Given the description of an element on the screen output the (x, y) to click on. 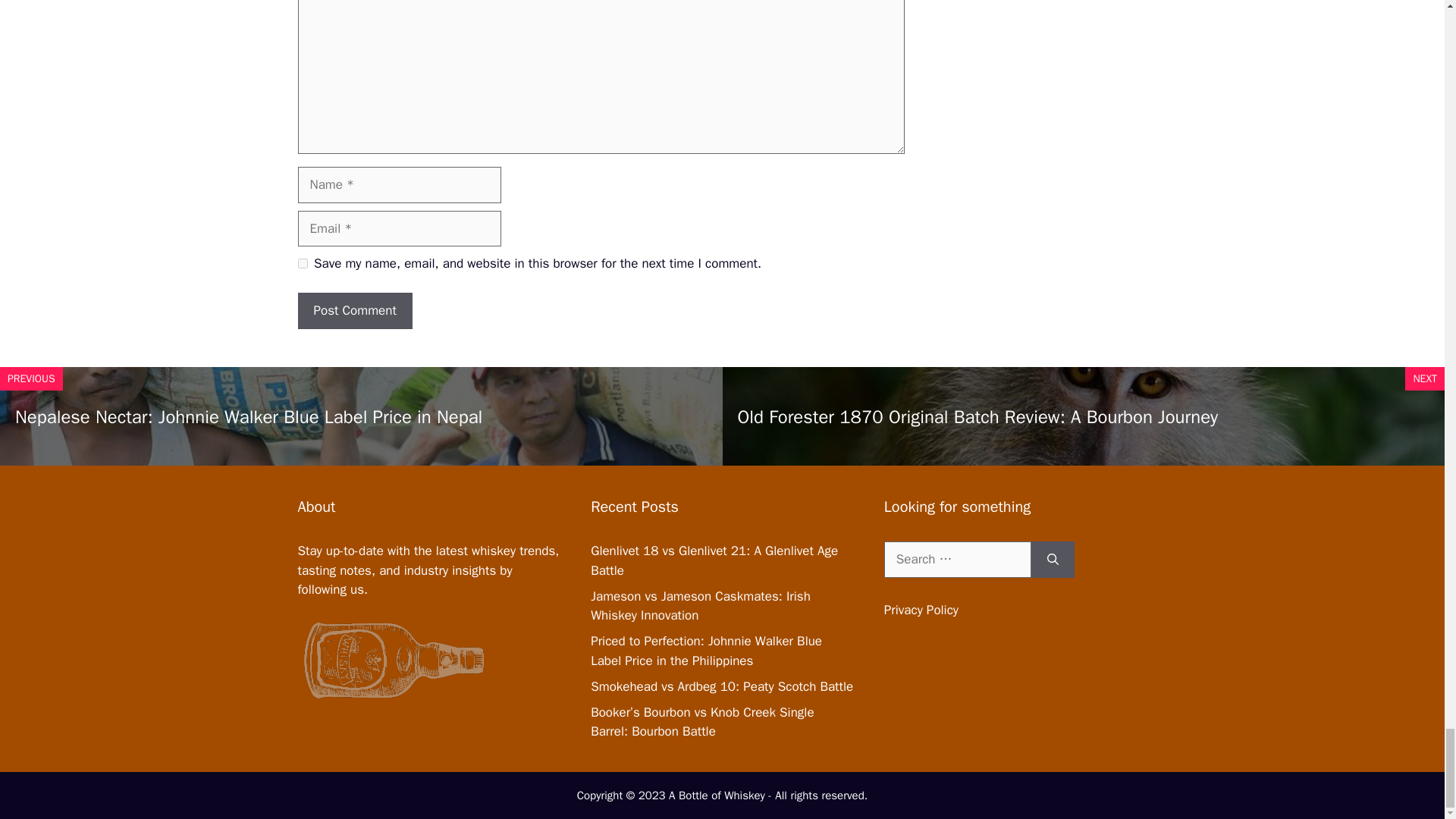
yes (302, 263)
Search for: (956, 559)
Post Comment (354, 310)
Post Comment (354, 310)
